Given the description of an element on the screen output the (x, y) to click on. 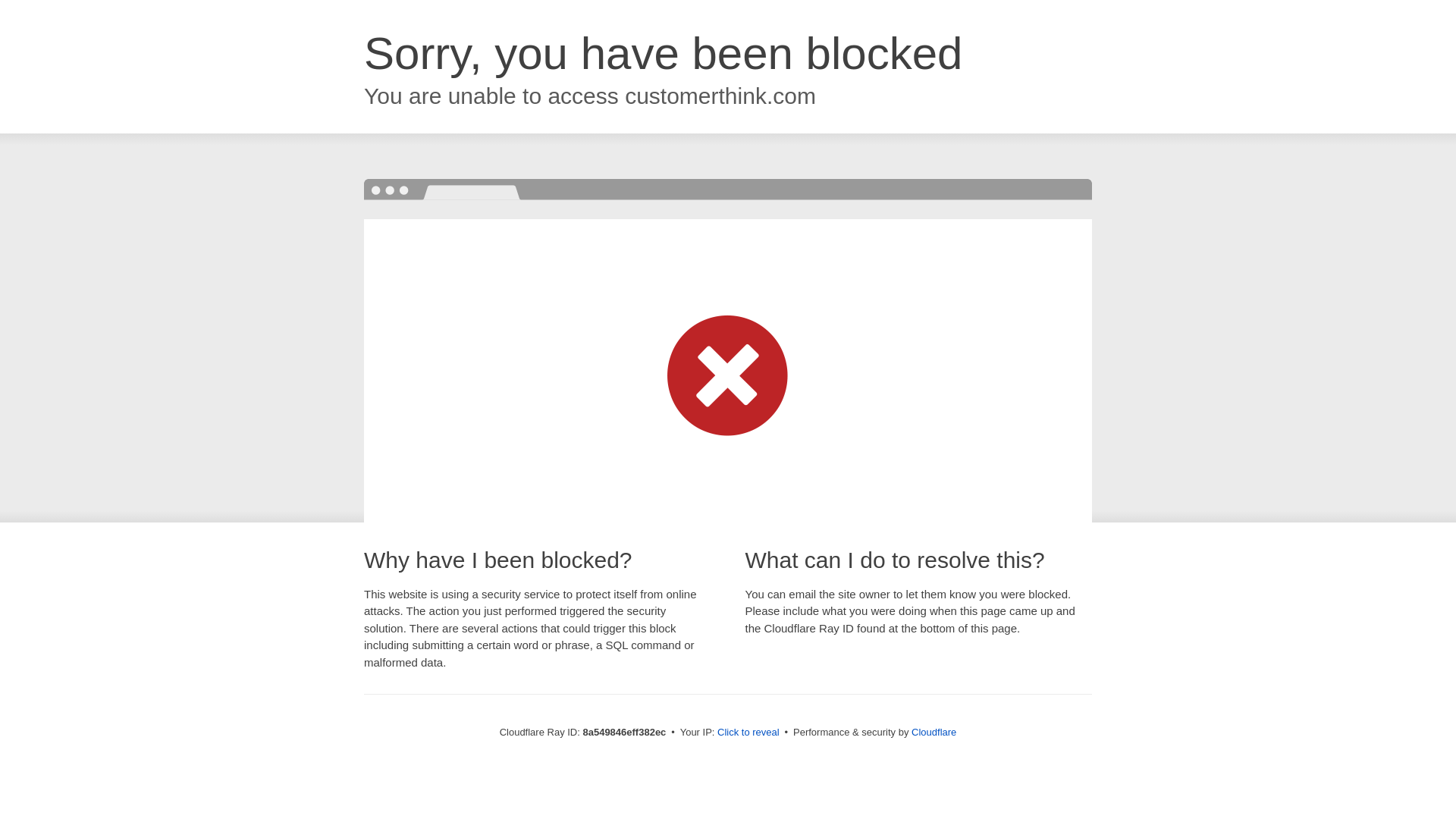
Click to reveal (747, 732)
Cloudflare (933, 731)
